Given the description of an element on the screen output the (x, y) to click on. 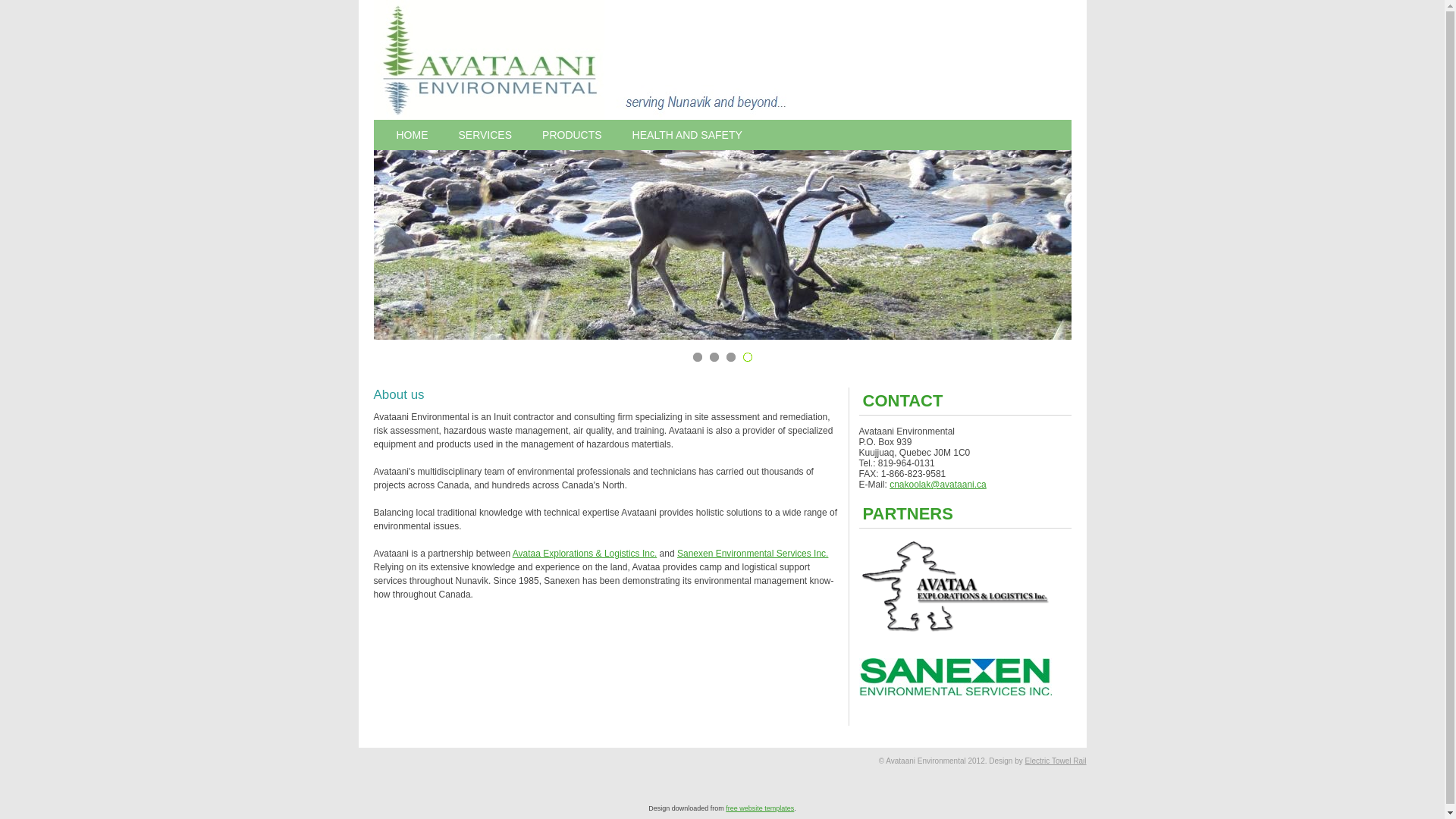
Avataa Explorations & Logistics Inc. Element type: text (584, 553)
free website templates Element type: text (759, 808)
Electric Towel Rail Element type: text (1055, 760)
Sanexen Environmental Services Inc. Element type: text (752, 553)
cnakoolak@avataani.ca Element type: text (937, 484)
SERVICES Element type: text (484, 134)
HEALTH AND SAFETY Element type: text (687, 134)
PRODUCTS Element type: text (572, 134)
HOME Element type: text (411, 134)
